Given the description of an element on the screen output the (x, y) to click on. 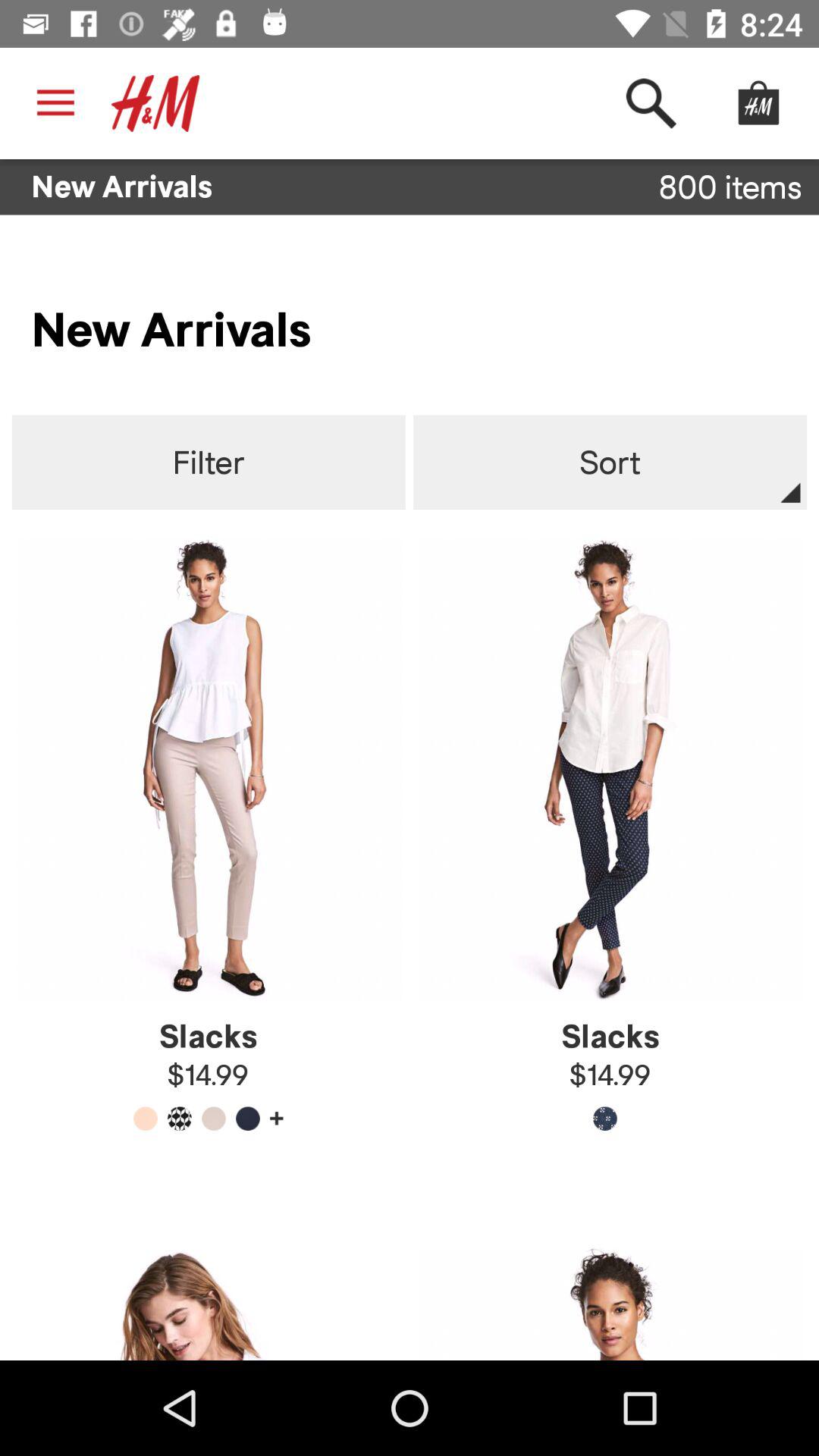
select the item next to sort (208, 462)
